Given the description of an element on the screen output the (x, y) to click on. 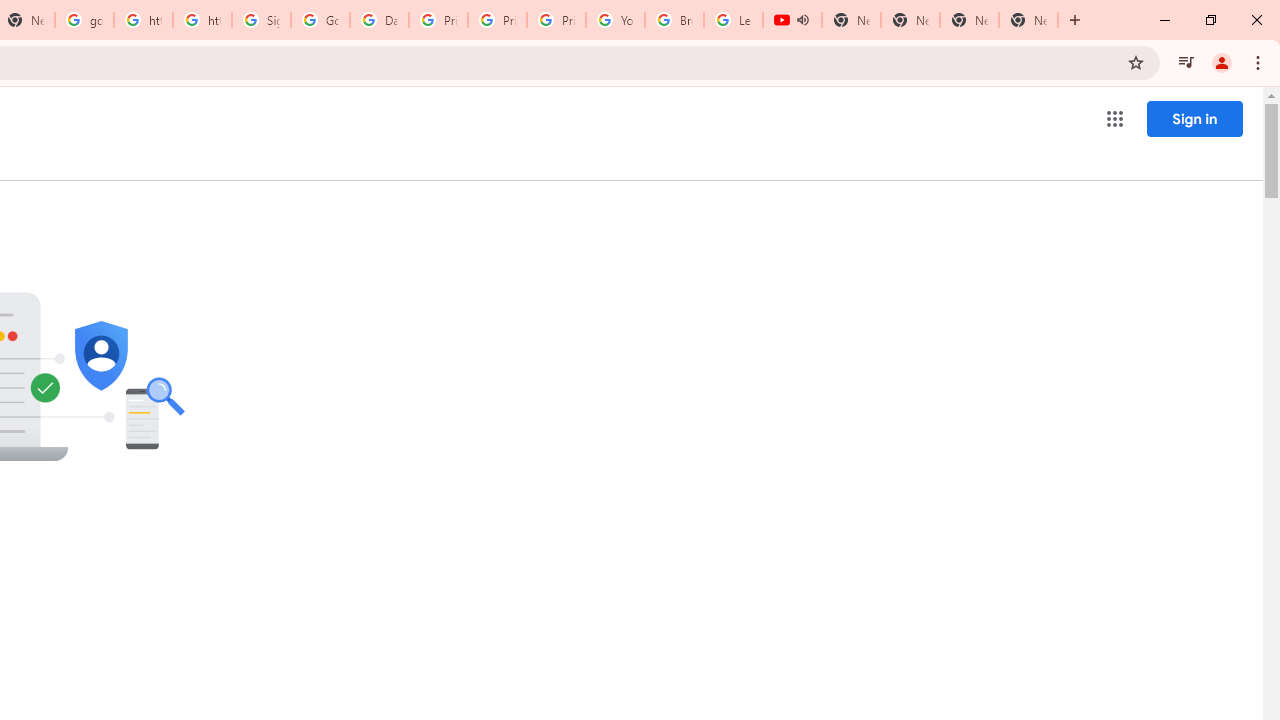
Privacy Help Center - Policies Help (438, 20)
New Tab (1028, 20)
YouTube (615, 20)
Privacy Help Center - Policies Help (497, 20)
